Given the description of an element on the screen output the (x, y) to click on. 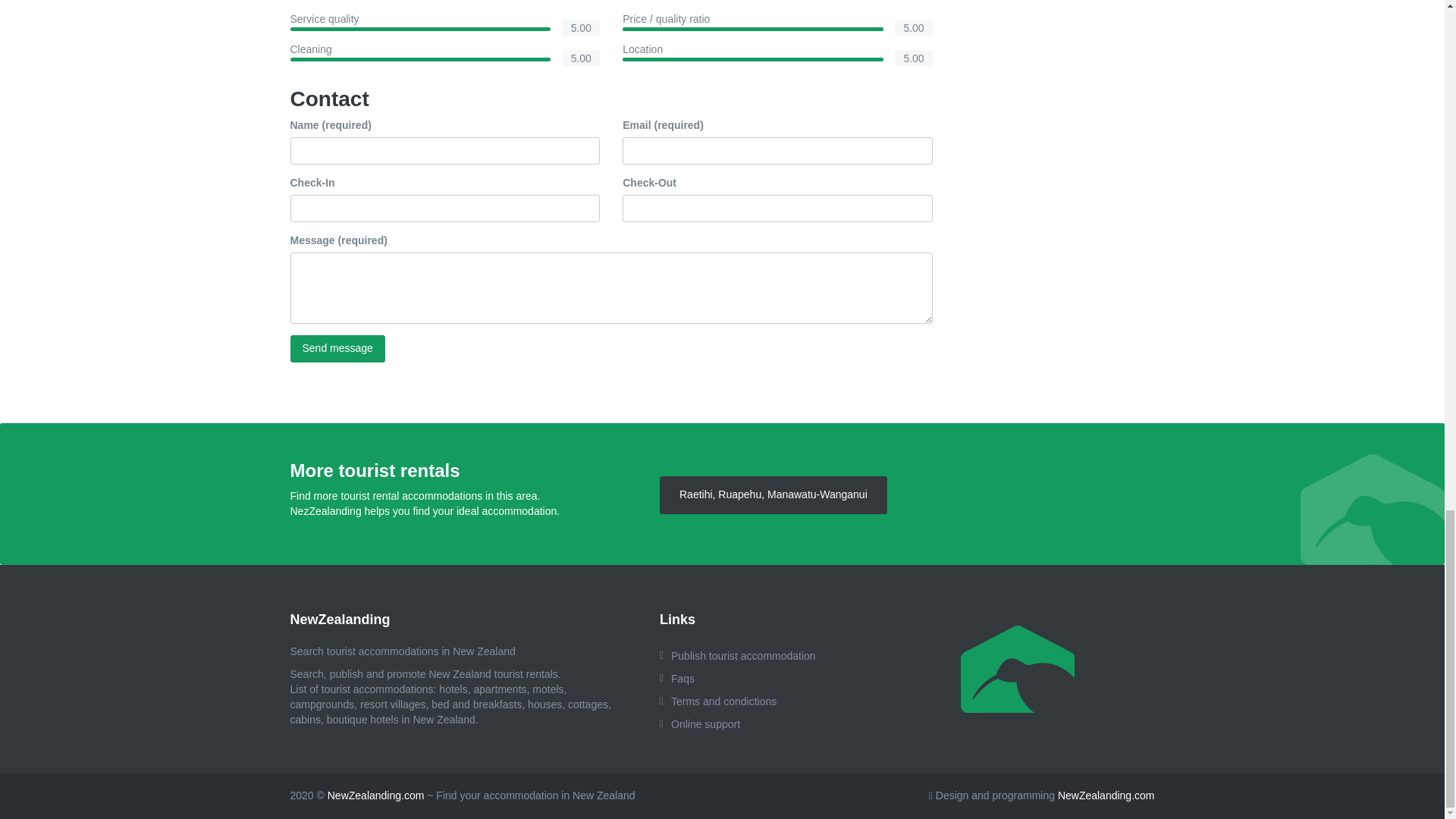
Faqs (759, 678)
Terms and condictions (759, 701)
Online support (759, 723)
NewZealanding.com (376, 795)
Publish tourist accommodation (759, 655)
Raetihi, Ruapehu, Manawatu-Wanganui (772, 494)
NewZealanding.com (1106, 795)
Send message (336, 348)
